Given the description of an element on the screen output the (x, y) to click on. 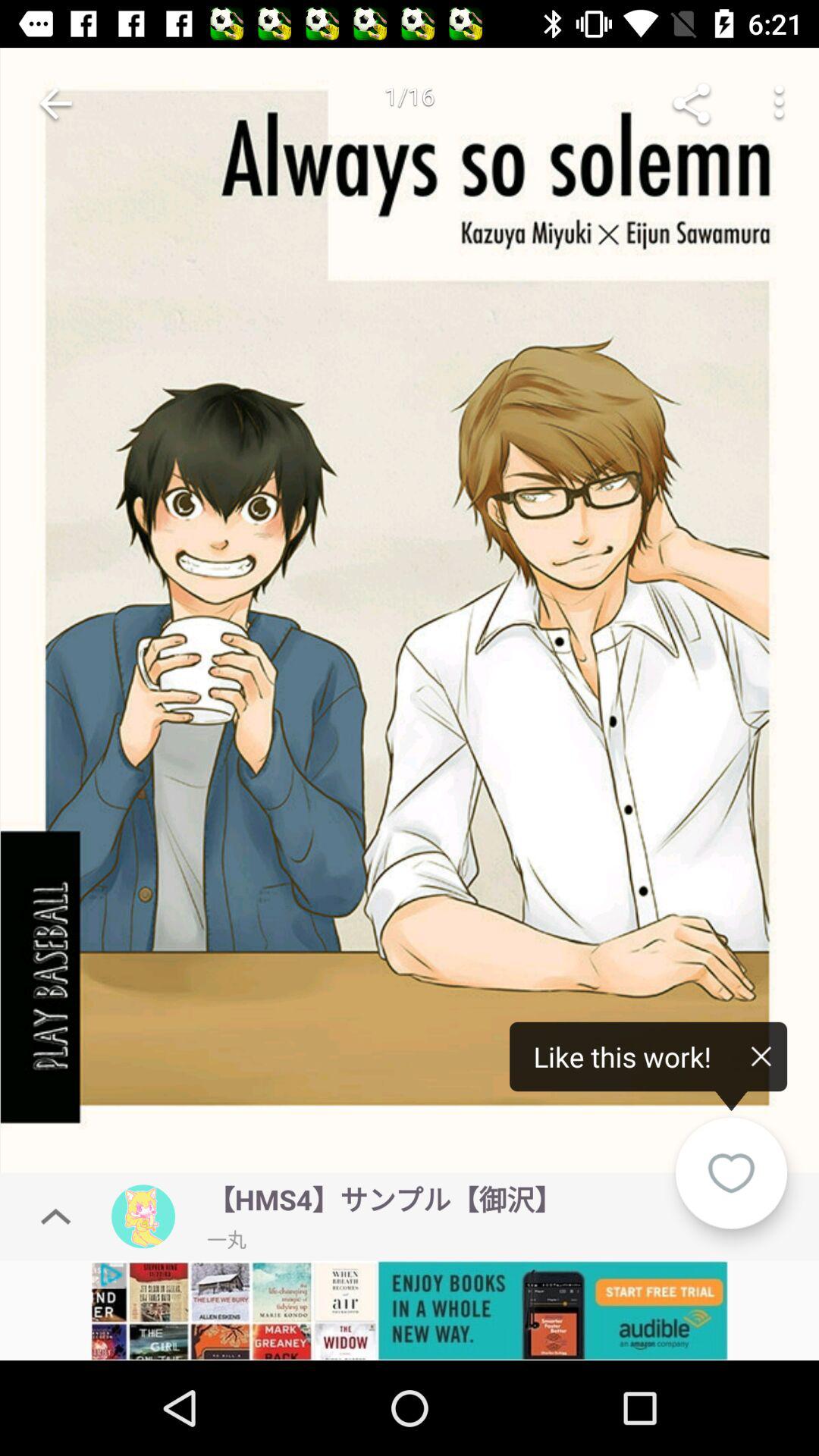
profile icon (143, 1216)
